Given the description of an element on the screen output the (x, y) to click on. 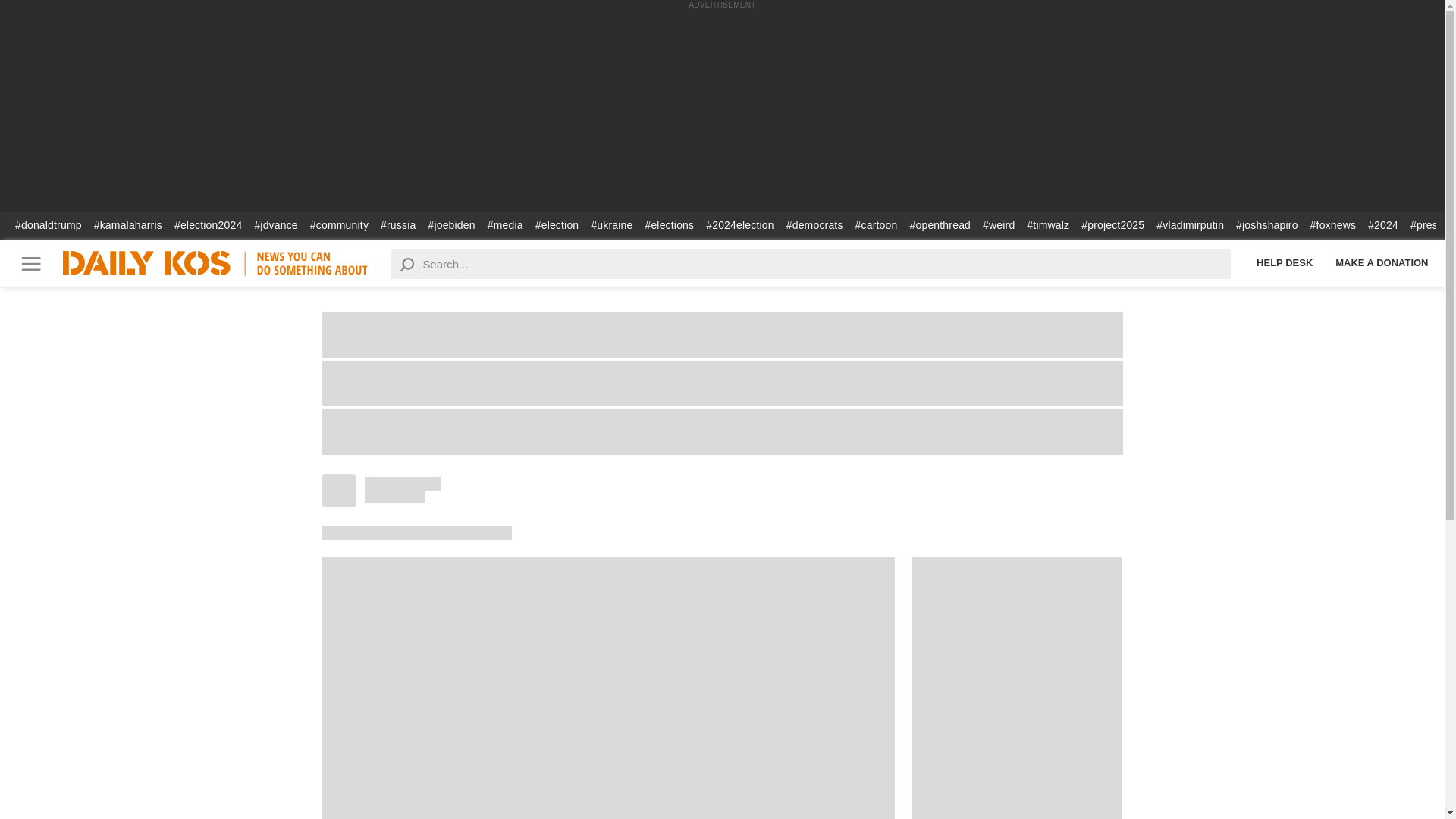
MAKE A DONATION (1381, 262)
Help Desk (1283, 262)
Make a Donation (1381, 262)
